Given the description of an element on the screen output the (x, y) to click on. 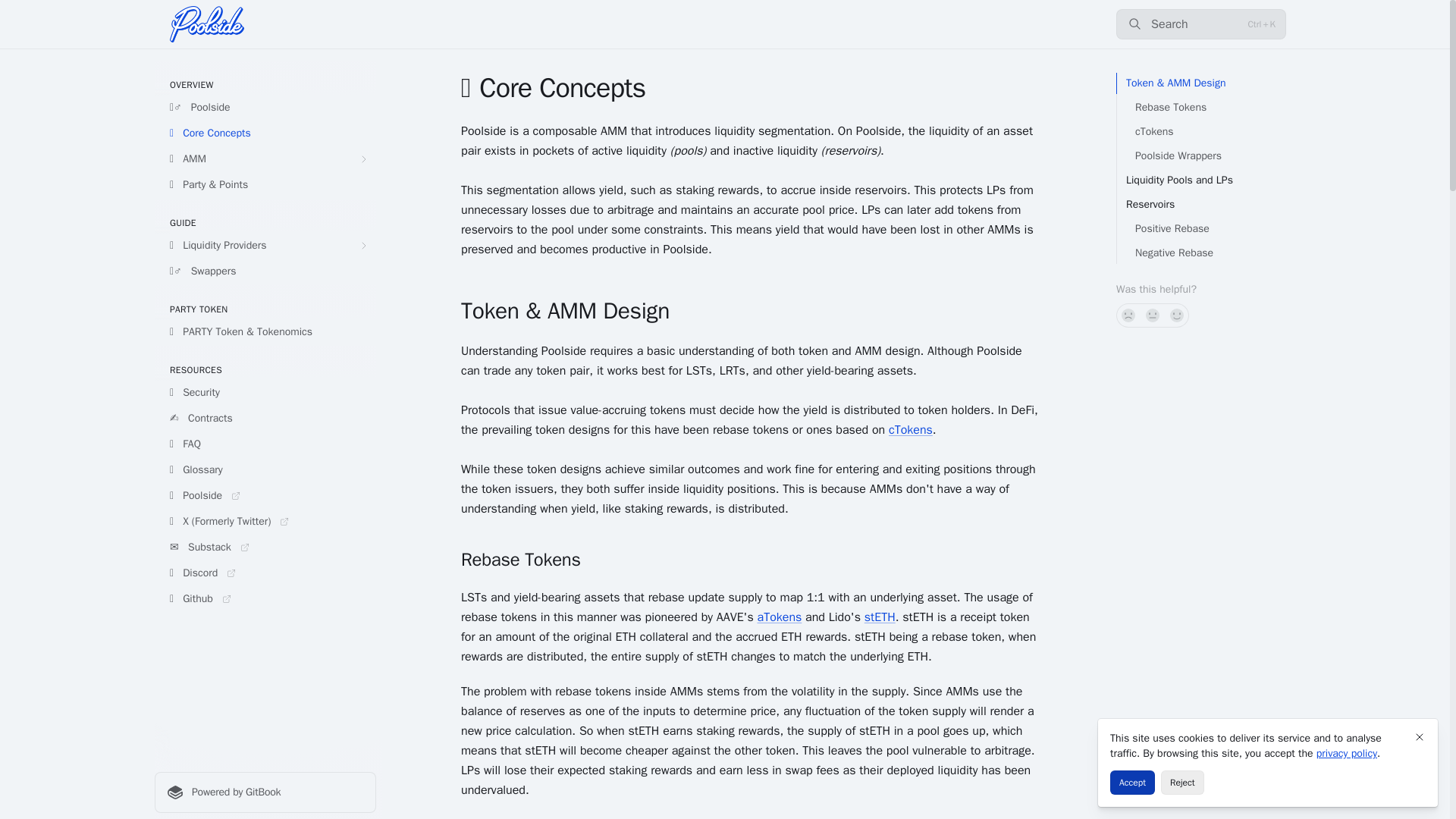
stETH (879, 616)
Yes, it was! (1176, 315)
aTokens (779, 616)
cTokens (910, 428)
No (1128, 315)
Powered by GitBook (264, 792)
Not sure (1152, 315)
Close (1419, 737)
